Given the description of an element on the screen output the (x, y) to click on. 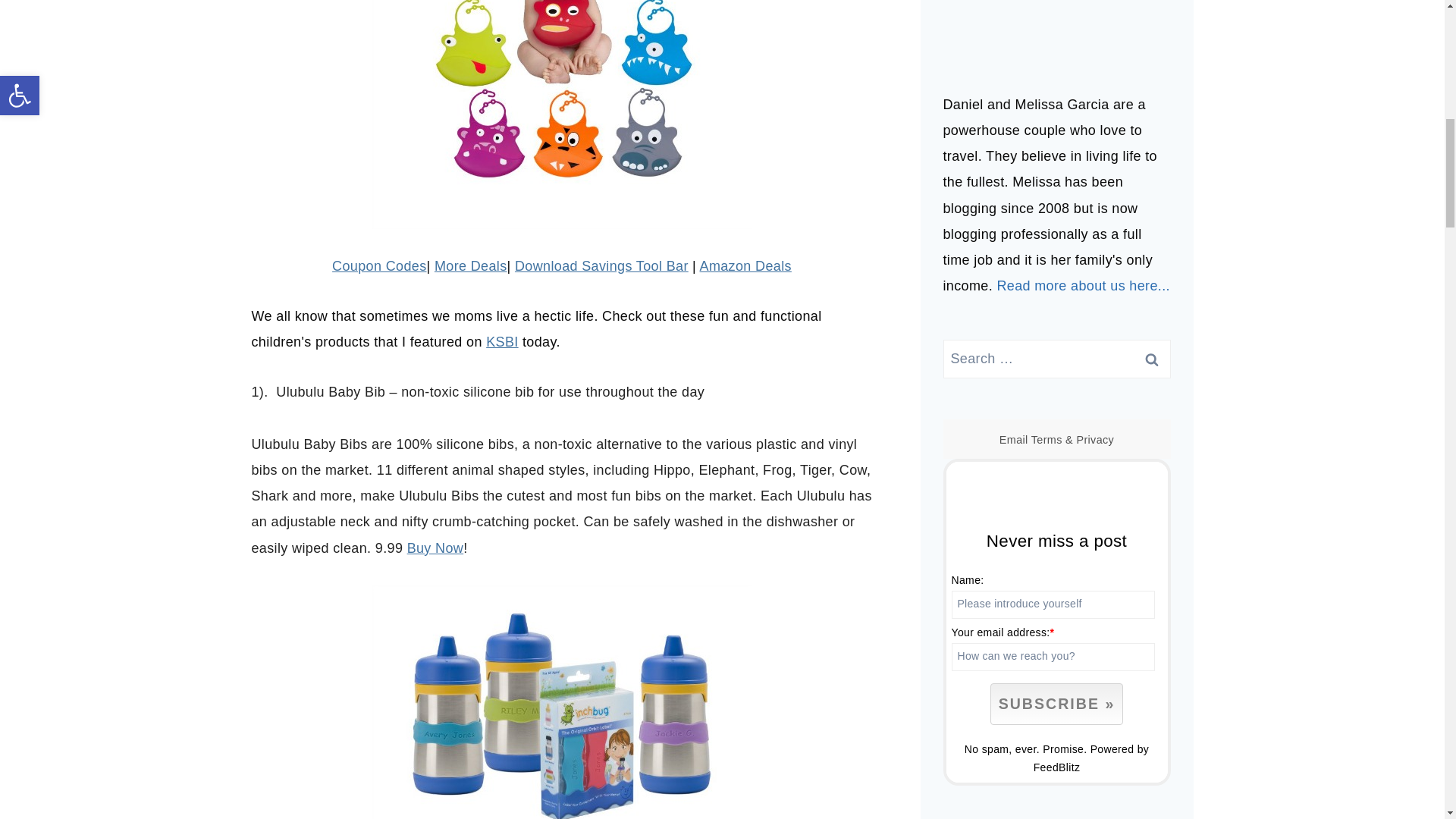
Please introduce yourself (1052, 604)
Email subscriptions privacy policy (1094, 439)
Search (1151, 358)
click to join (1056, 703)
Email subscriptions terms of service (1046, 439)
How can we reach you? (1052, 656)
Search (1151, 358)
